Given the description of an element on the screen output the (x, y) to click on. 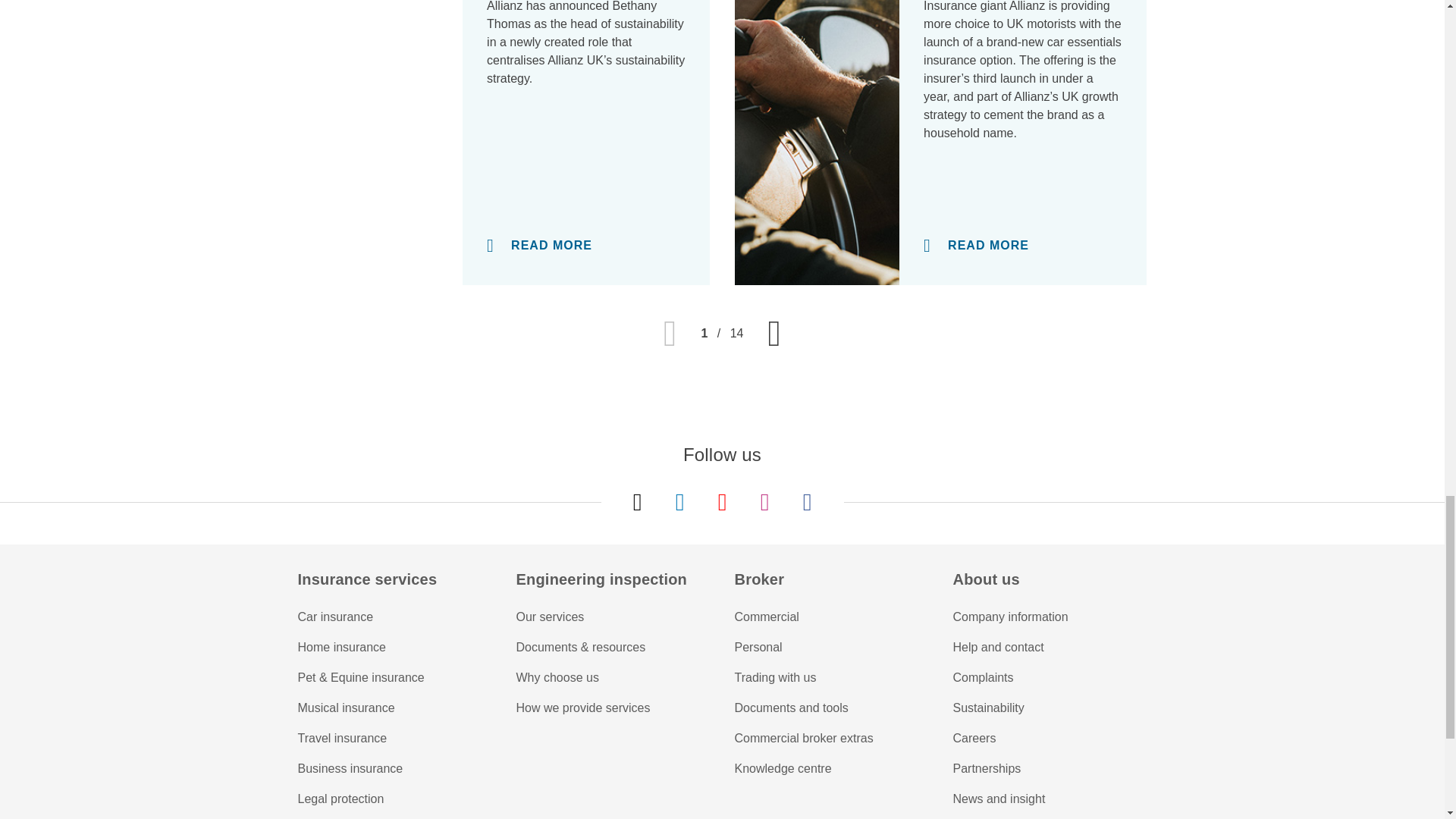
link to Allianz Insurance on Linkedin (678, 501)
link to Allianz Insurance on Youtube (721, 501)
Allianz Insurance on Facebook (806, 501)
link to Allianz broker on X (636, 501)
link to Allianz Insurance on Instagram (764, 501)
